Given the description of an element on the screen output the (x, y) to click on. 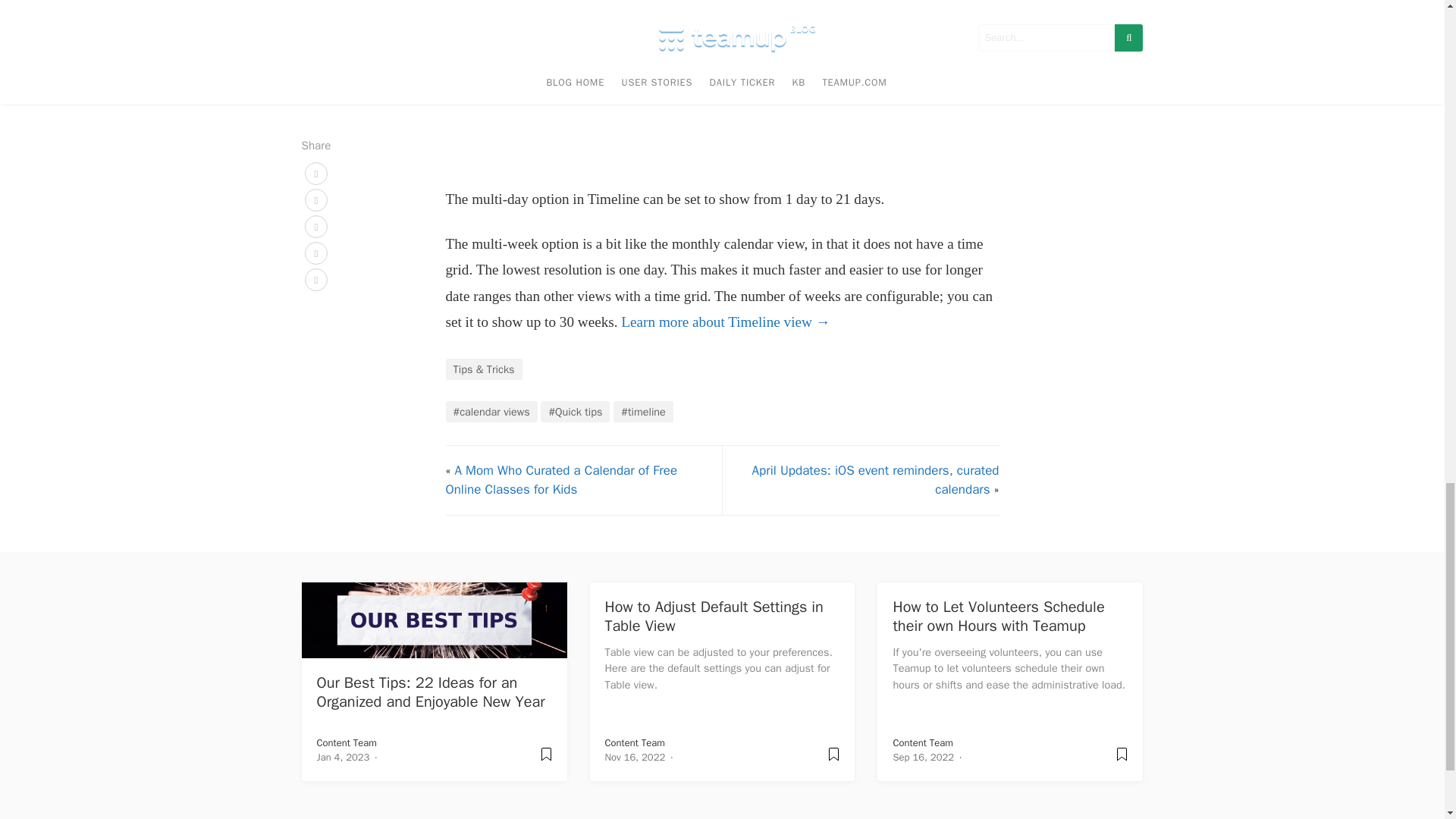
A Mom Who Curated a Calendar of Free Online Classes for Kids (561, 479)
Content Team (922, 742)
How to Adjust Default Settings in Table View (714, 616)
Content Team (635, 742)
Content Team (347, 742)
How to Let Volunteers Schedule their own Hours with Teamup (997, 616)
April Updates: iOS event reminders, curated calendars (875, 479)
